Given the description of an element on the screen output the (x, y) to click on. 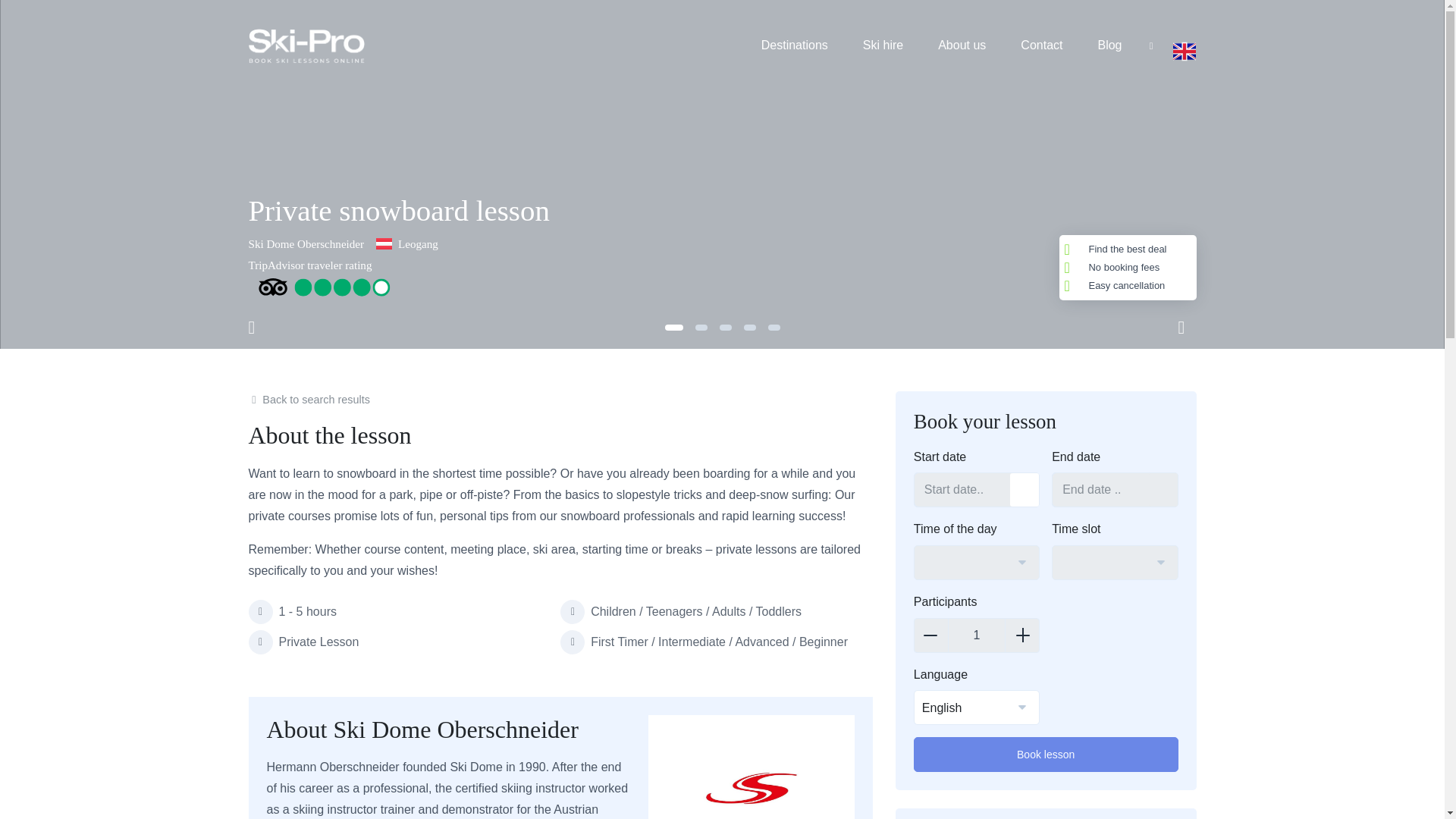
About us (961, 46)
Contact (1041, 46)
Book lesson (1045, 754)
Destinations (794, 46)
Blog (1109, 46)
Back to search results (308, 399)
English (976, 708)
1 (976, 635)
Ski hire (882, 46)
